Given the description of an element on the screen output the (x, y) to click on. 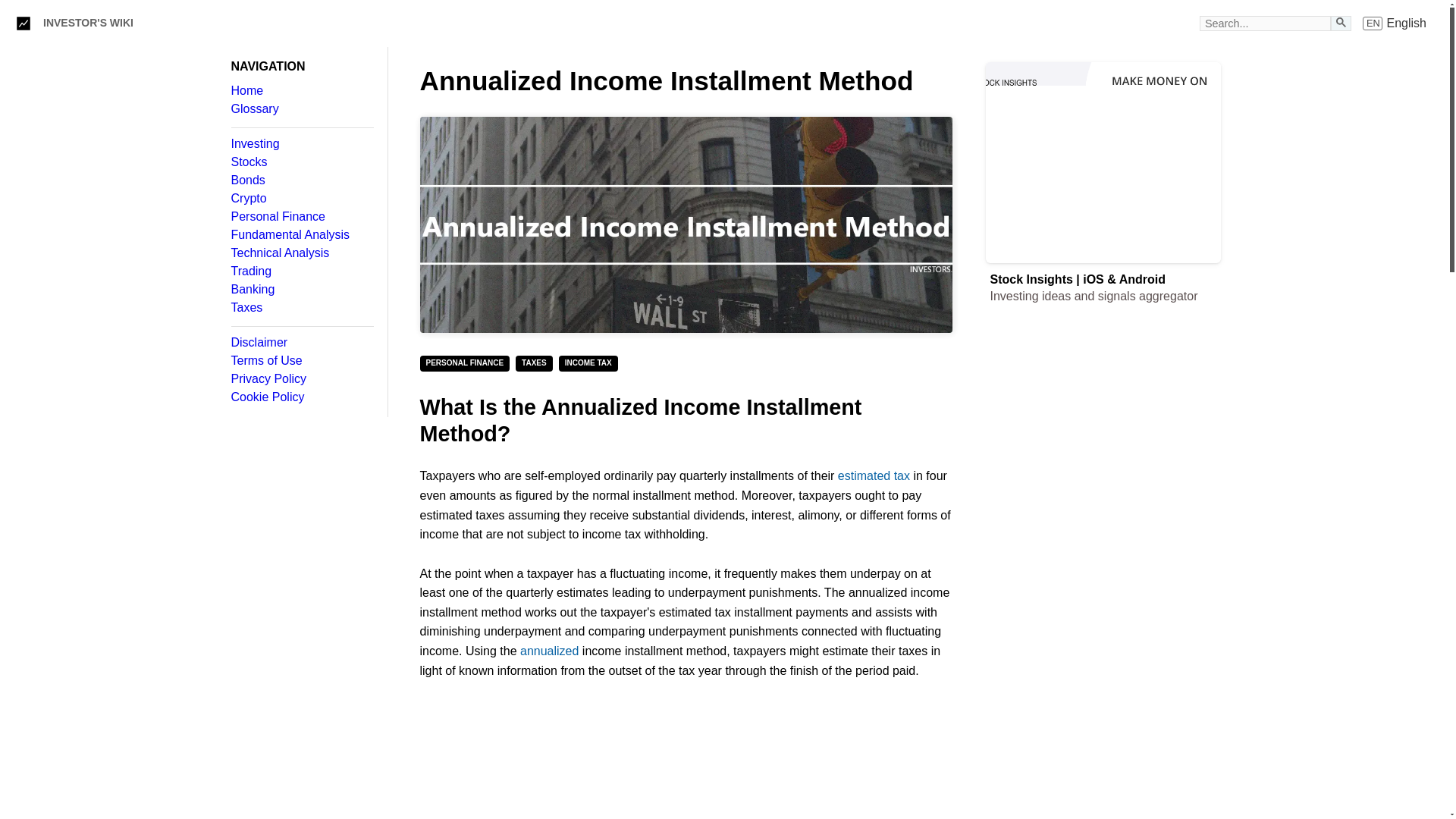
Investing (301, 143)
Stocks (301, 162)
INVESTOR'S WIKI (88, 23)
Taxes (301, 307)
Disclaimer (301, 342)
Banking (301, 289)
Advertisement (686, 759)
Personal Finance (301, 216)
Investor's wiki (23, 23)
Glossary (301, 109)
